Given the description of an element on the screen output the (x, y) to click on. 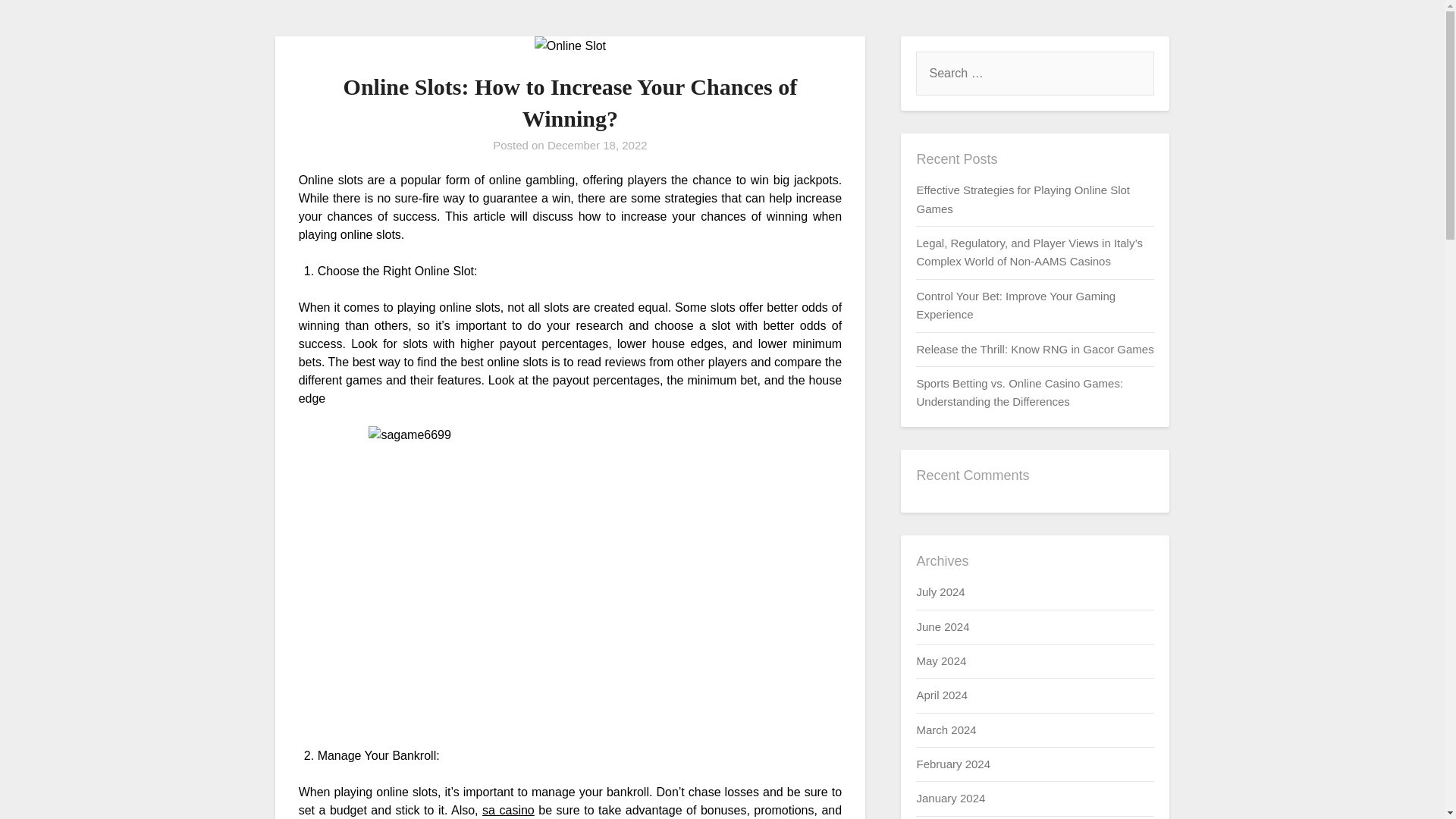
Control Your Bet: Improve Your Gaming Experience (1015, 305)
December 18, 2022 (597, 144)
February 2024 (952, 763)
Release the Thrill: Know RNG in Gacor Games (1034, 349)
sa casino (507, 809)
Effective Strategies for Playing Online Slot Games (1022, 198)
June 2024 (942, 626)
Search (37, 22)
March 2024 (945, 729)
April 2024 (941, 694)
January 2024 (950, 797)
July 2024 (939, 591)
May 2024 (940, 660)
